Given the description of an element on the screen output the (x, y) to click on. 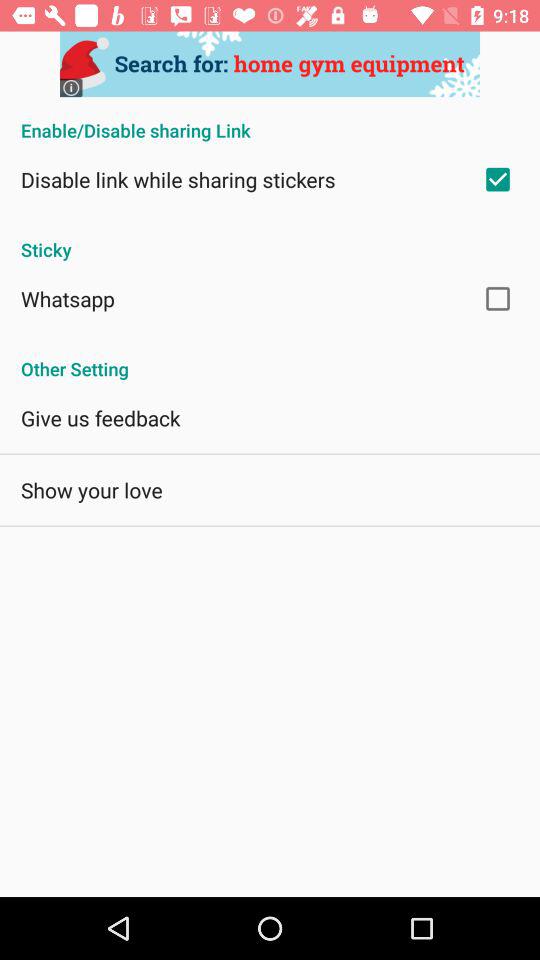
swipe until the other setting app (270, 358)
